Given the description of an element on the screen output the (x, y) to click on. 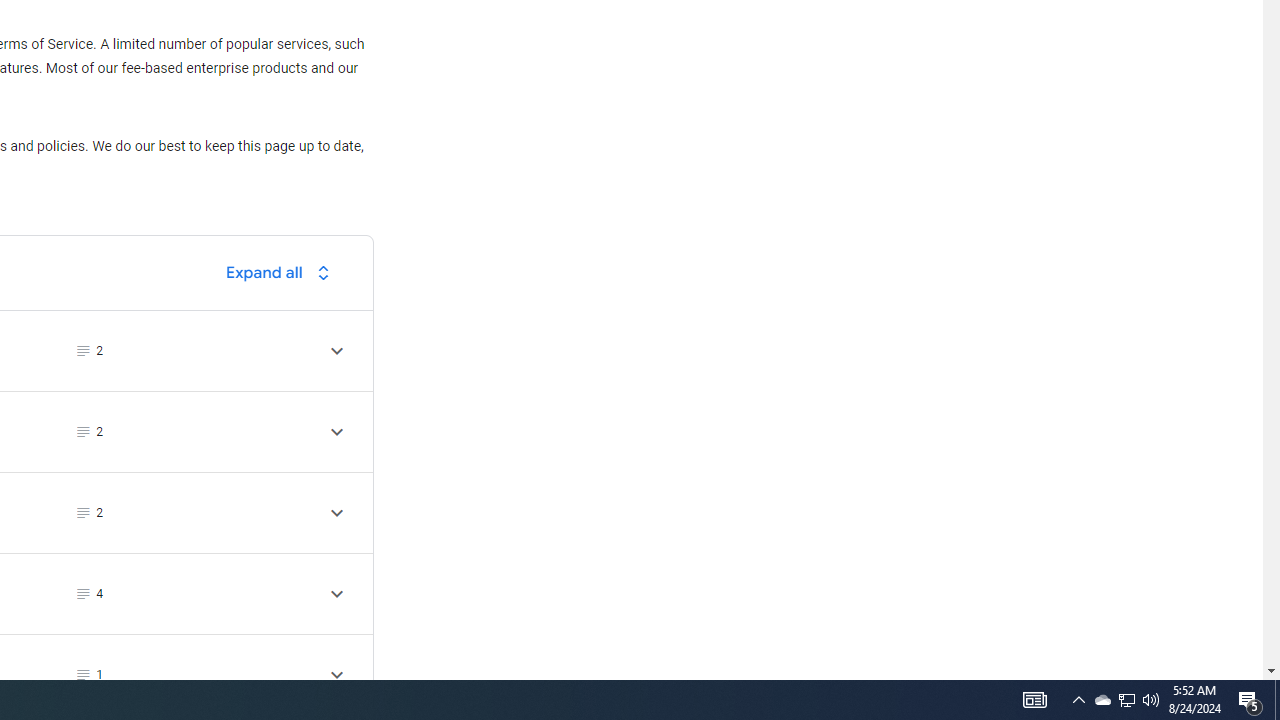
Expand all (283, 272)
